Given the description of an element on the screen output the (x, y) to click on. 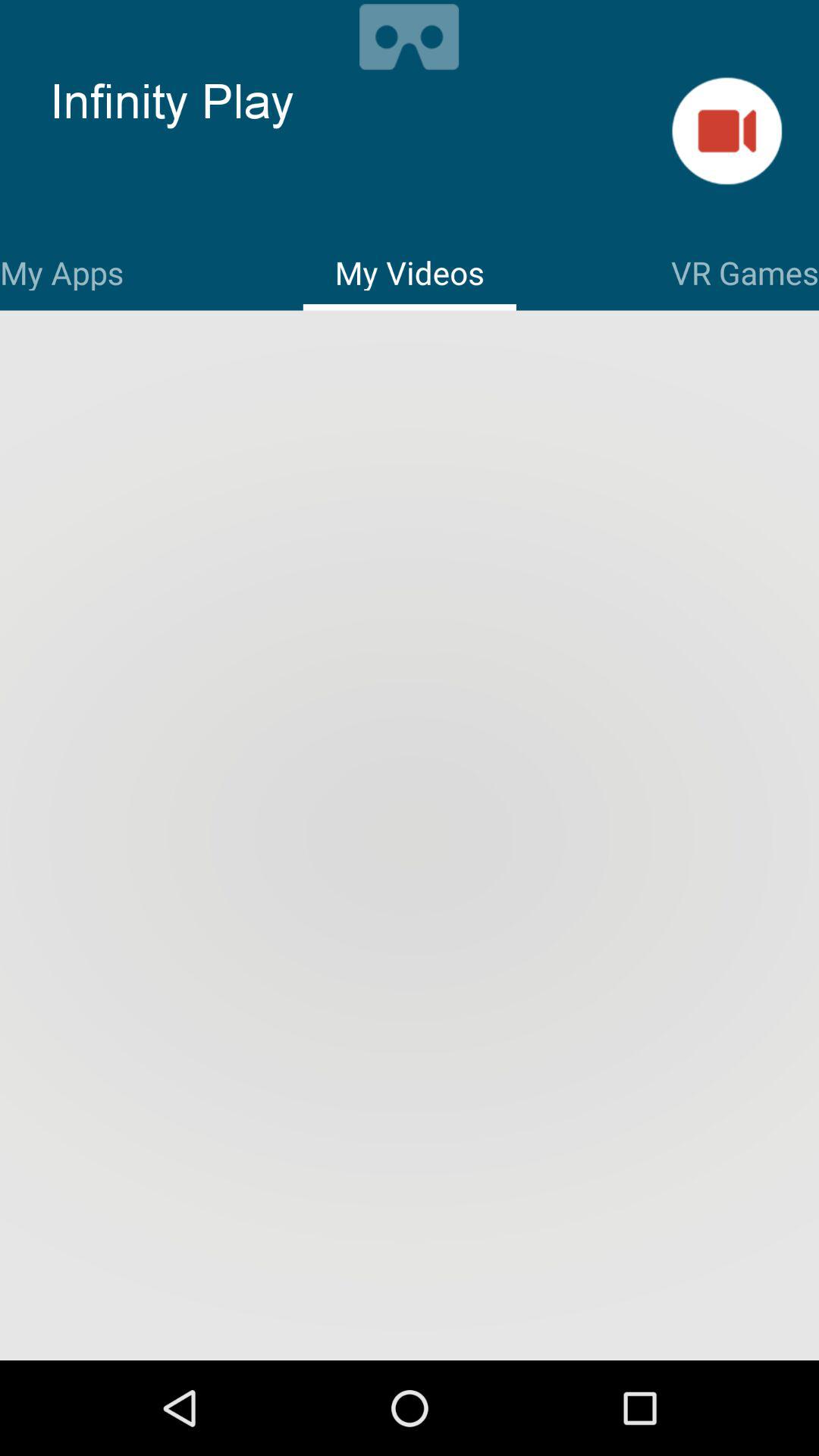
choose the item below the infinity play (61, 270)
